Given the description of an element on the screen output the (x, y) to click on. 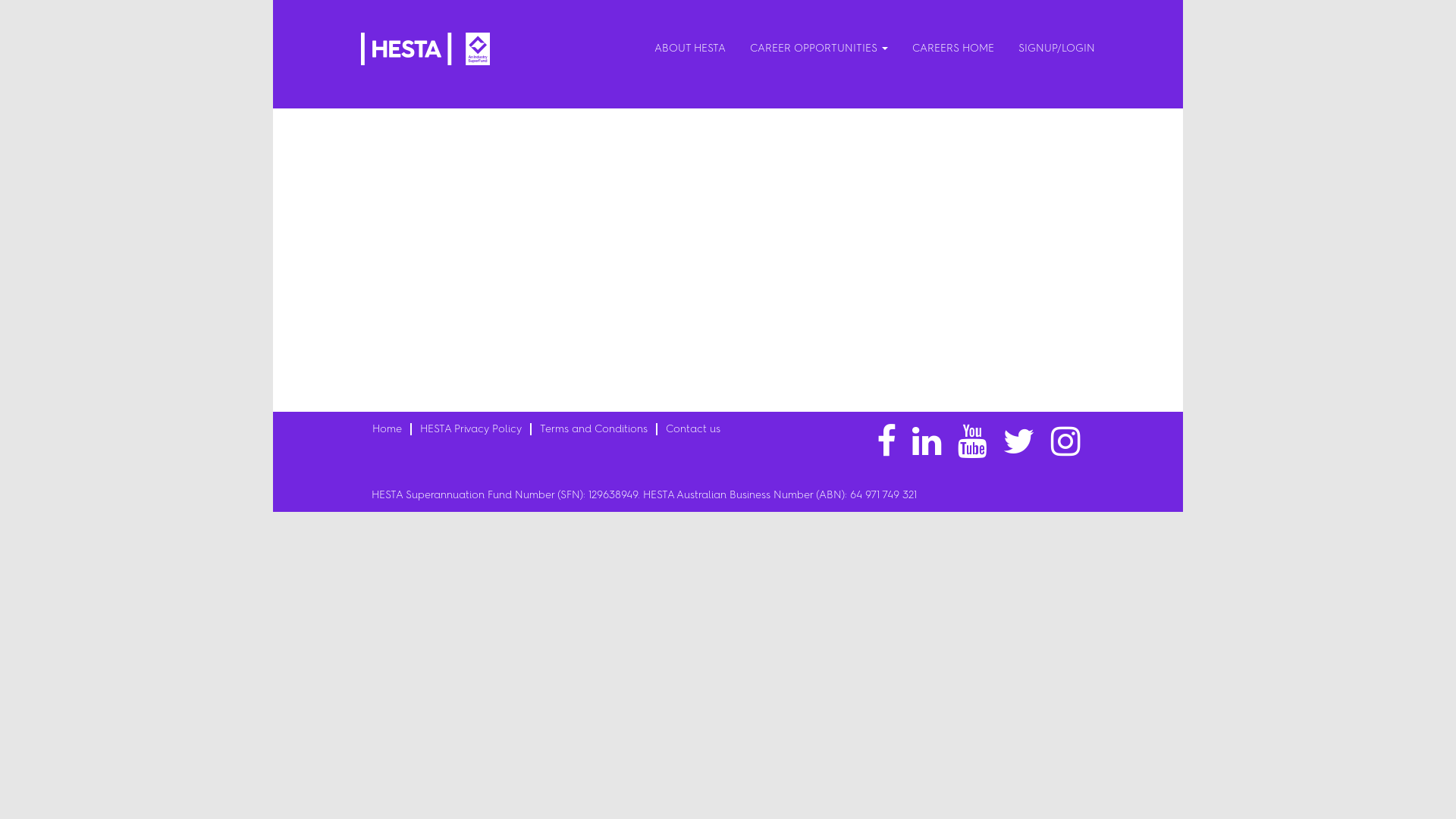
youtube Element type: hover (972, 442)
HESTA Logo Element type: hover (425, 48)
HESTA Privacy Policy Element type: text (470, 429)
Home Element type: text (386, 429)
twitter Element type: hover (1018, 442)
CAREER OPPORTUNITIES Element type: text (818, 47)
linkedin Element type: hover (926, 442)
SIGNUP/LOGIN Element type: text (1056, 47)
Terms and Conditions Element type: text (593, 429)
instagram Element type: hover (1065, 442)
Contact us Element type: text (693, 429)
ABOUT HESTA Element type: text (689, 47)
CAREERS HOME Element type: text (952, 47)
facebook Element type: hover (886, 442)
